Given the description of an element on the screen output the (x, y) to click on. 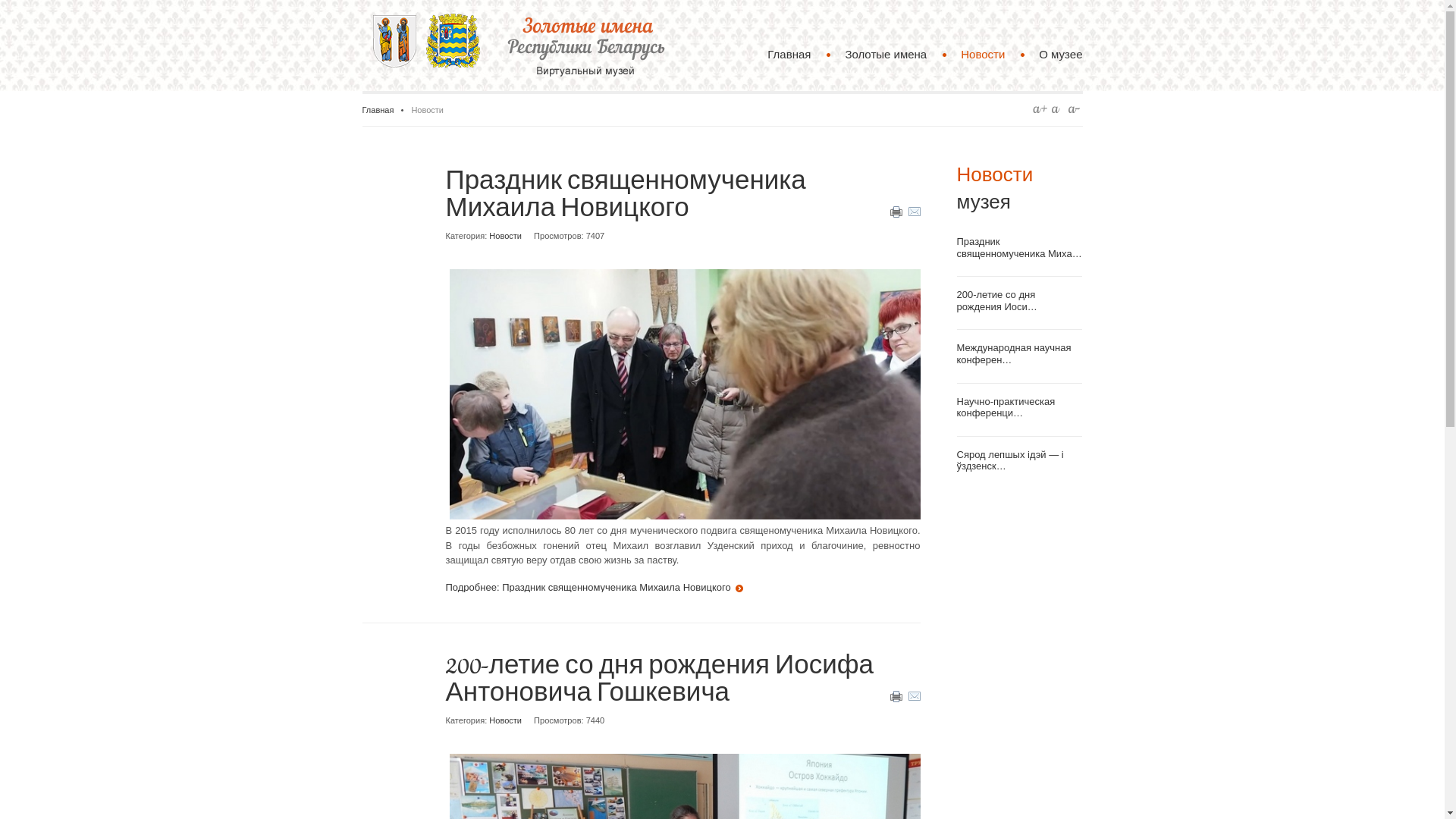
A Element type: text (1056, 108)
A- Element type: text (1074, 108)
E-mail Element type: hover (914, 213)
A+ Element type: text (1040, 108)
E-mail Element type: hover (914, 698)
